Given the description of an element on the screen output the (x, y) to click on. 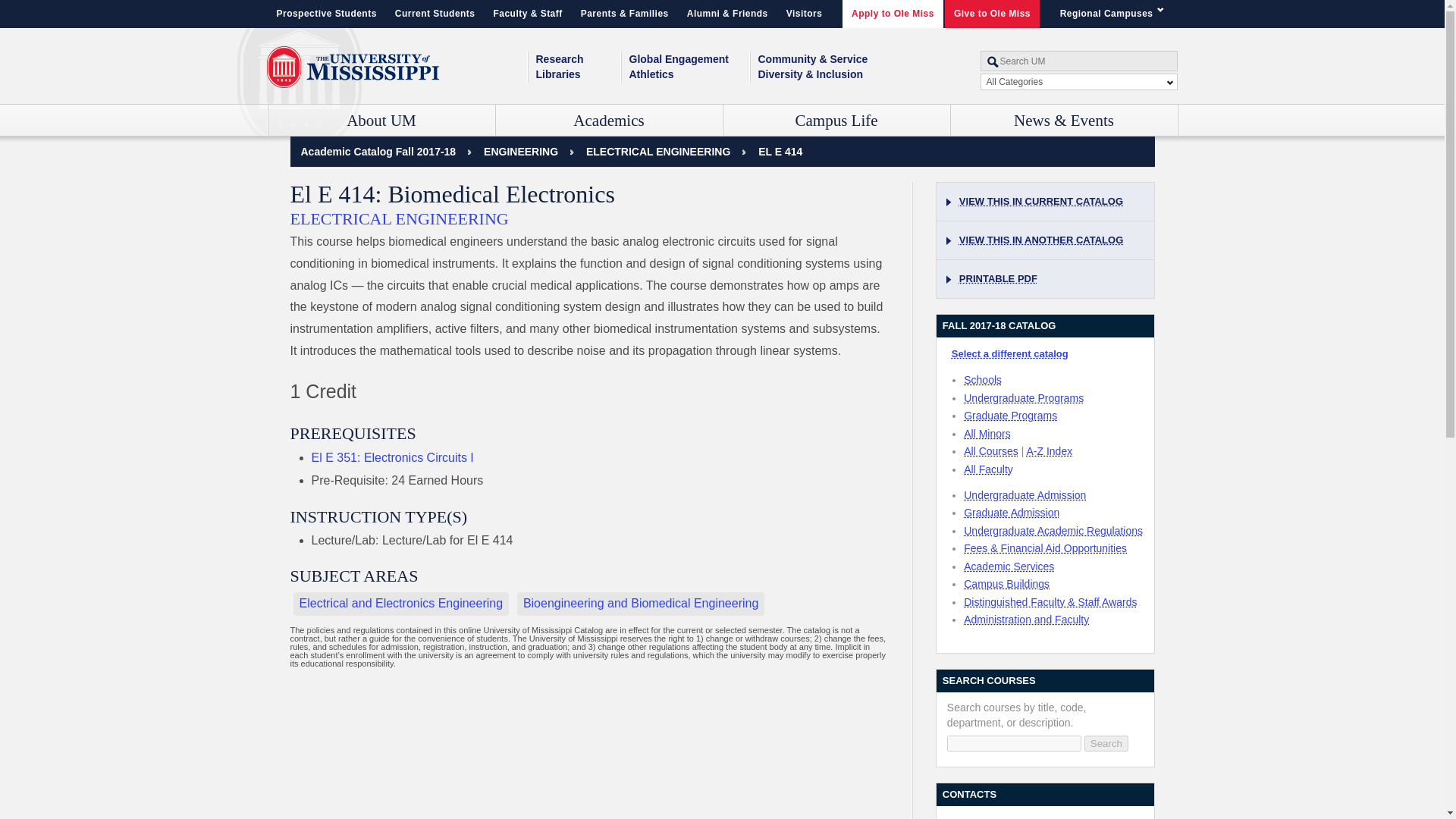
ELECTRICAL ENGINEERING (658, 151)
Libraries (577, 73)
Current Students (434, 13)
Biomedical Electronics (780, 151)
Search (1106, 743)
SCHOOL OF ENGINEERING (520, 151)
Apply to Ole Miss (893, 13)
About UM (381, 120)
Research (577, 58)
Regional Campuses (1114, 13)
Prospective Students (325, 13)
Academics (609, 120)
Search UM for anything... (1077, 60)
Visitors (804, 13)
Campus Life (836, 120)
